Given the description of an element on the screen output the (x, y) to click on. 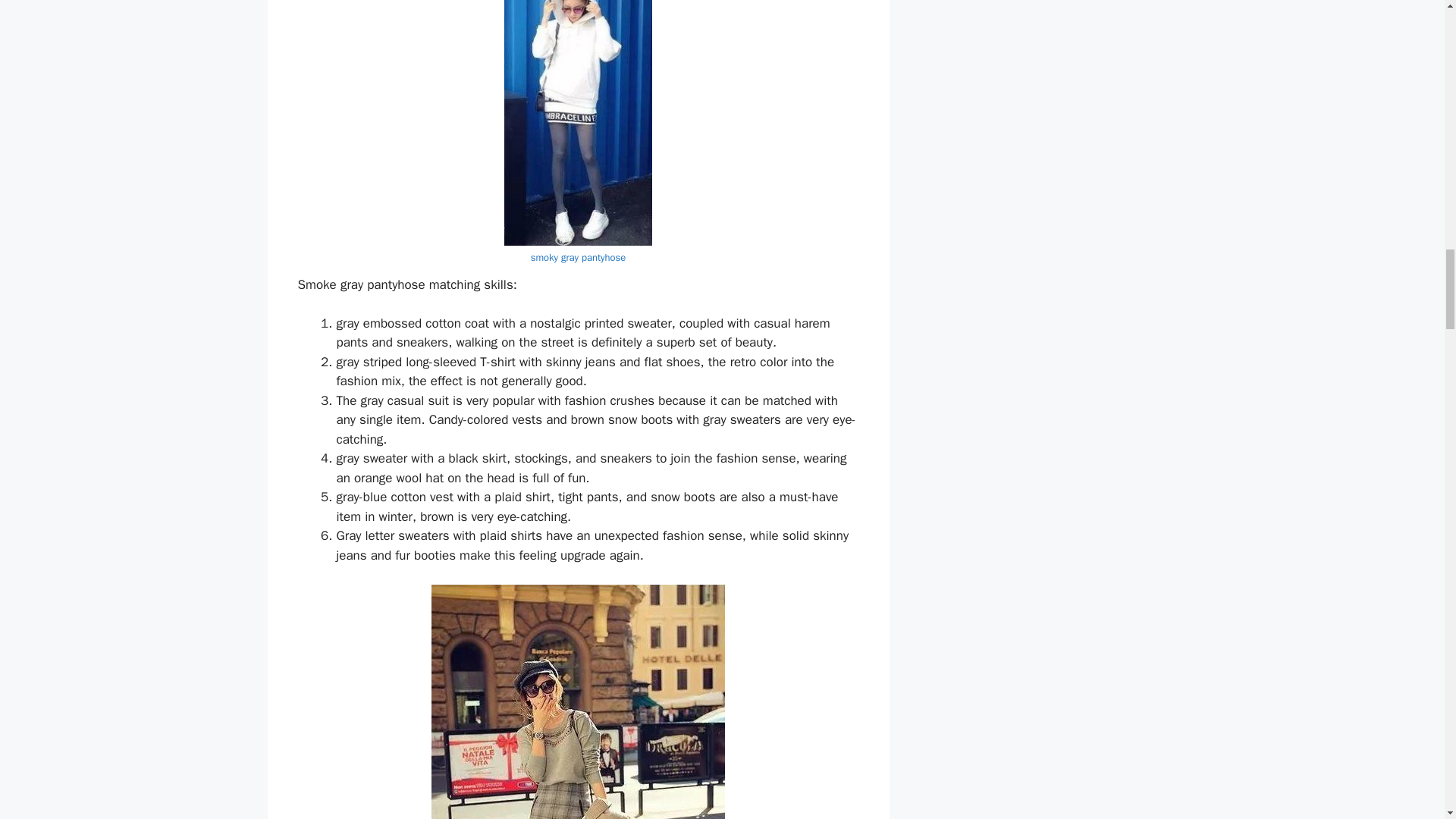
smoky gray pantyhose (578, 256)
